Given the description of an element on the screen output the (x, y) to click on. 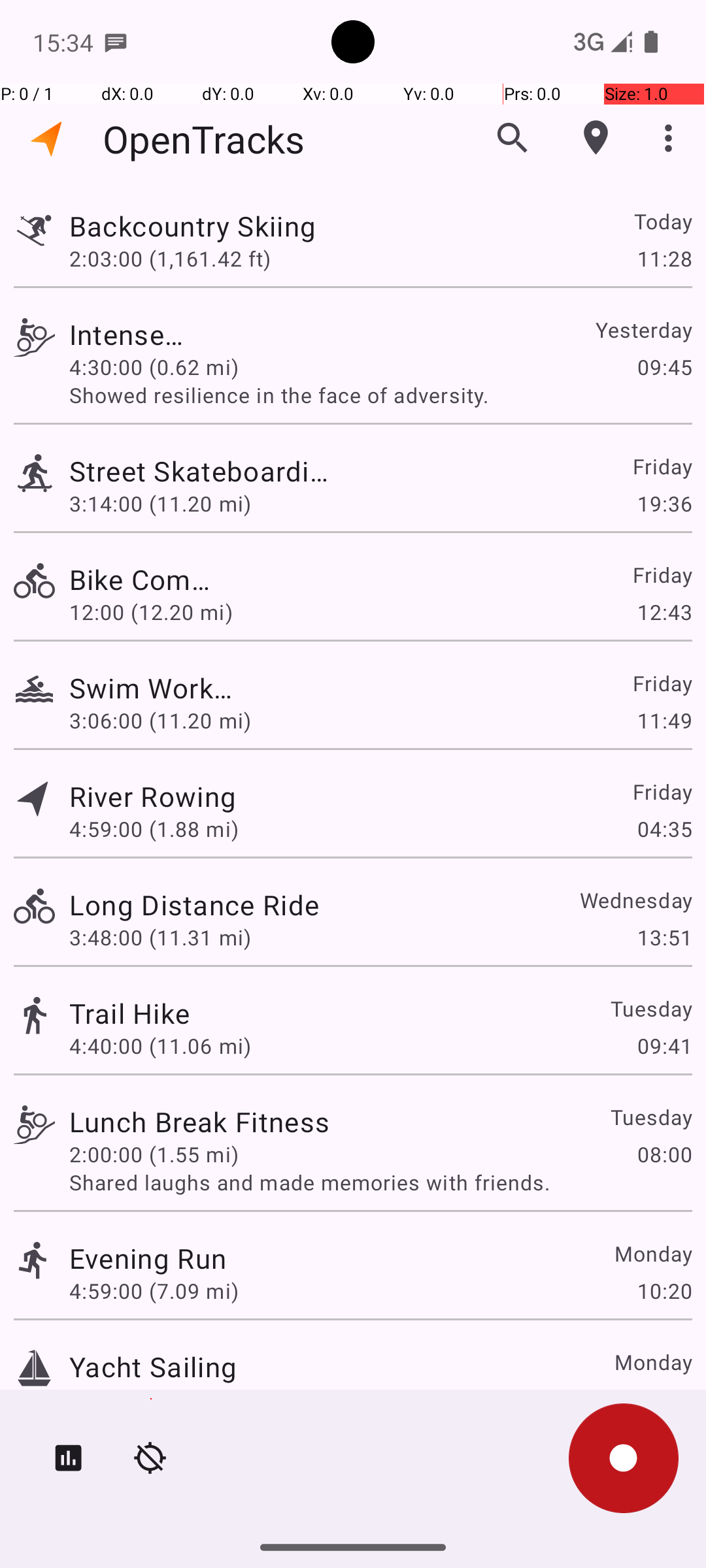
OpenTracks Element type: android.widget.TextView (203, 138)
Markers Element type: android.widget.Button (595, 137)
Record Element type: android.widget.ImageButton (623, 1458)
Track Element type: android.widget.ImageView (33, 227)
Backcountry Skiing Element type: android.widget.TextView (193, 225)
Today Element type: android.widget.TextView (662, 221)
2:03:00 (1,161.42 ft) Element type: android.widget.TextView (169, 258)
11:28 Element type: android.widget.TextView (664, 258)
Intense day Element type: android.widget.TextView (129, 333)
Yesterday Element type: android.widget.TextView (643, 329)
4:30:00 (0.62 mi) Element type: android.widget.TextView (159, 366)
09:45 Element type: android.widget.TextView (664, 366)
Showed resilience in the face of adversity. Element type: android.widget.TextView (380, 394)
Street Skateboarding Element type: android.widget.TextView (199, 470)
Friday Element type: android.widget.TextView (661, 466)
3:14:00 (11.20 mi) Element type: android.widget.TextView (159, 503)
19:36 Element type: android.widget.TextView (664, 503)
Bike Commute Element type: android.widget.TextView (147, 578)
12:00 (12.20 mi) Element type: android.widget.TextView (153, 611)
12:43 Element type: android.widget.TextView (664, 611)
Swim Workout Element type: android.widget.TextView (152, 687)
3:06:00 (11.20 mi) Element type: android.widget.TextView (159, 720)
11:49 Element type: android.widget.TextView (664, 720)
River Rowing Element type: android.widget.TextView (152, 795)
4:59:00 (1.88 mi) Element type: android.widget.TextView (153, 828)
04:35 Element type: android.widget.TextView (664, 828)
Long Distance Ride Element type: android.widget.TextView (193, 904)
Wednesday Element type: android.widget.TextView (635, 899)
3:48:00 (11.31 mi) Element type: android.widget.TextView (159, 937)
13:51 Element type: android.widget.TextView (664, 937)
Trail Hike Element type: android.widget.TextView (129, 1012)
Tuesday Element type: android.widget.TextView (650, 1008)
4:40:00 (11.06 mi) Element type: android.widget.TextView (159, 1045)
09:41 Element type: android.widget.TextView (664, 1045)
Lunch Break Fitness Element type: android.widget.TextView (199, 1121)
2:00:00 (1.55 mi) Element type: android.widget.TextView (153, 1154)
08:00 Element type: android.widget.TextView (664, 1154)
Shared laughs and made memories with friends. Element type: android.widget.TextView (380, 1182)
Evening Run Element type: android.widget.TextView (147, 1257)
Monday Element type: android.widget.TextView (652, 1253)
4:59:00 (7.09 mi) Element type: android.widget.TextView (153, 1290)
10:20 Element type: android.widget.TextView (664, 1290)
Yacht Sailing Element type: android.widget.TextView (152, 1366)
06:00 (11.36 mi) Element type: android.widget.TextView (150, 1399)
09:14 Element type: android.widget.TextView (664, 1399)
